Given the description of an element on the screen output the (x, y) to click on. 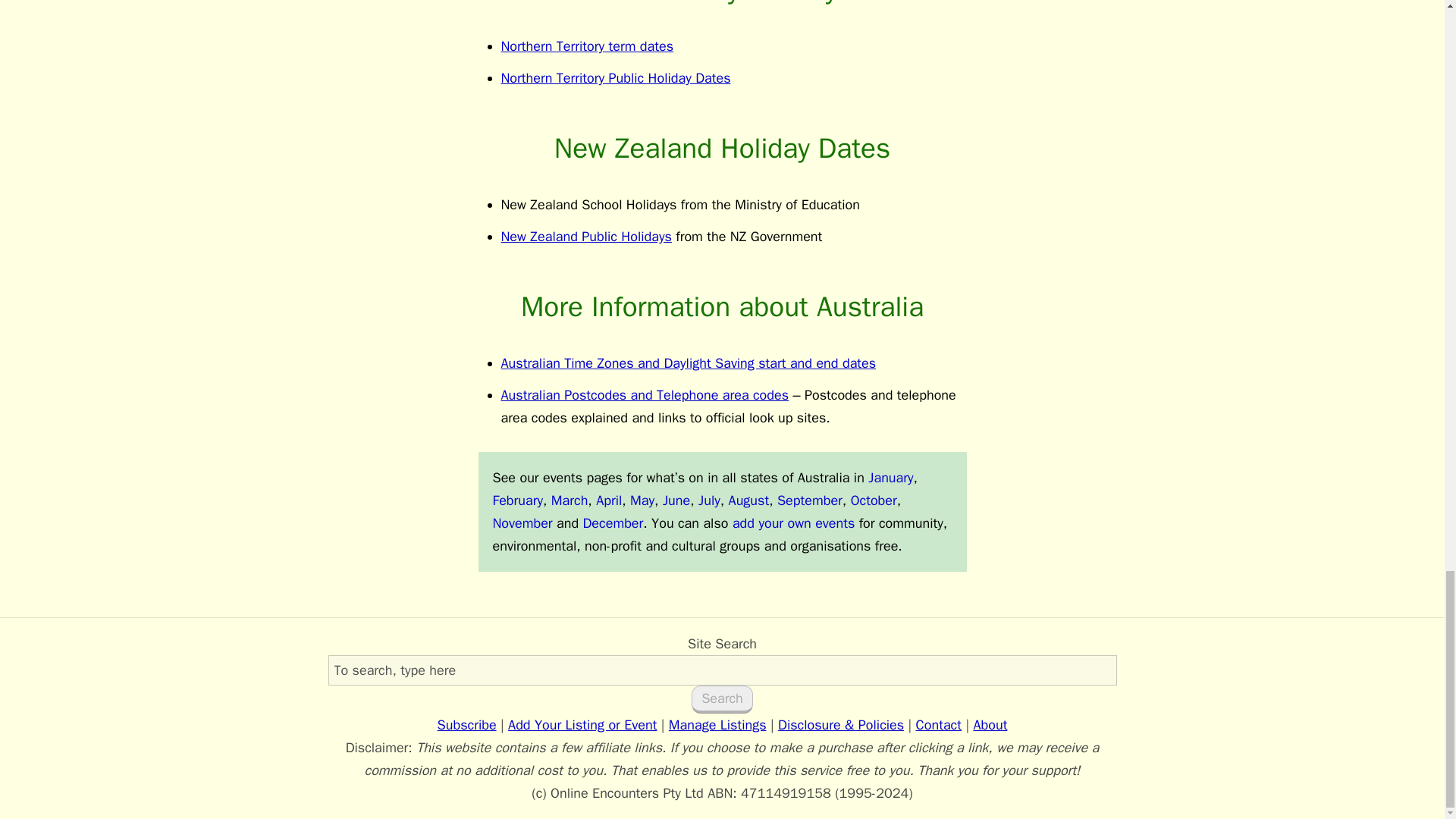
April (608, 500)
To search, type here (721, 670)
Northern Territory Public Holiday Dates (615, 77)
August (749, 500)
Northern Territory term dates (586, 45)
New Zealand Public Holidays (585, 236)
July (709, 500)
December (612, 523)
Subscribe (467, 724)
Australian Postcodes and Telephone area codes (644, 394)
March (569, 500)
May (641, 500)
Search (721, 699)
Search (721, 699)
Add Your Listing or Event (582, 724)
